Given the description of an element on the screen output the (x, y) to click on. 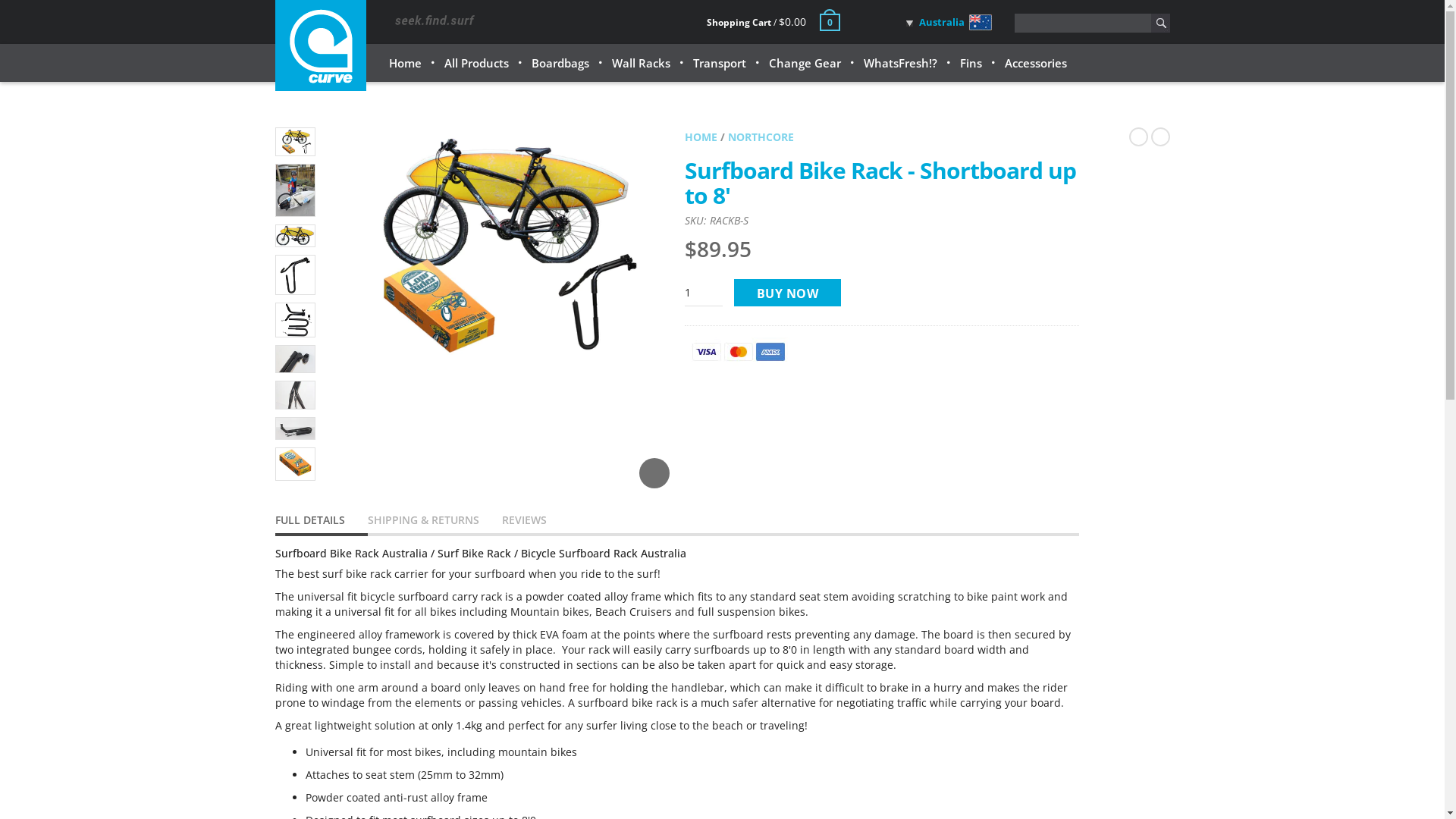
Boardbags Element type: text (559, 62)
FULL DETAILS Element type: text (320, 521)
Transport Element type: text (719, 62)
BUY NOW Element type: text (787, 292)
Accessories Element type: text (1035, 62)
REVIEWS Element type: text (535, 521)
HOME Element type: text (700, 136)
Change Gear Element type: text (804, 62)
SHIPPING & RETURNS Element type: text (434, 521)
Fins Element type: text (971, 62)
WhatsFresh!? Element type: text (899, 62)
Quantity Element type: hover (702, 292)
All Products Element type: text (476, 62)
Surfboard Bike Rack - Shortboard up to 8' Element type: hover (497, 246)
NORTHCORE Element type: text (760, 136)
Wall Racks Element type: text (640, 62)
Surfboard Bike Rack - Shortboard up to 8' Element type: text (879, 182)
Home Element type: text (404, 62)
Australia Element type: text (915, 21)
Curve Surfboard Accessories - Australia Element type: hover (319, 45)
Shopping Cart / $0.00 0 Element type: text (773, 22)
